Given the description of an element on the screen output the (x, y) to click on. 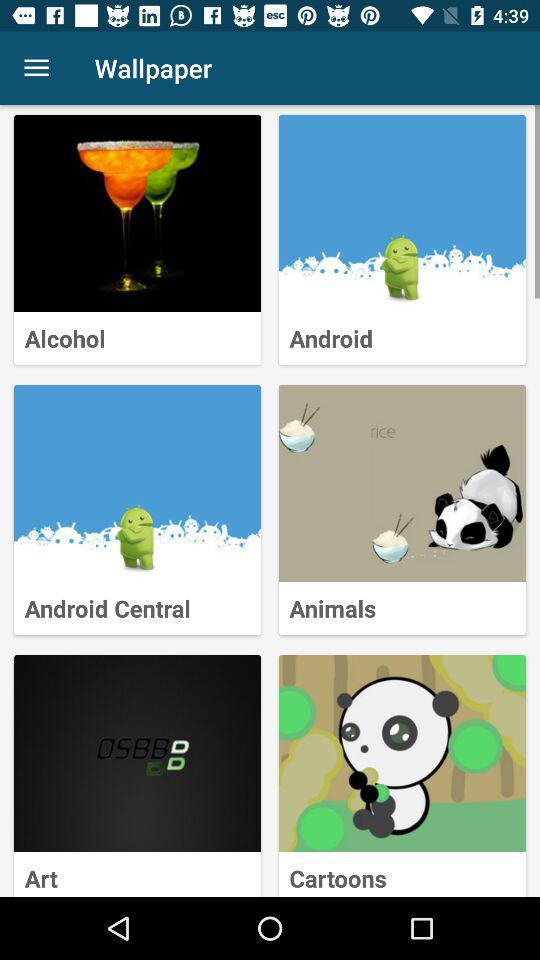
select cartoons link (402, 753)
